Given the description of an element on the screen output the (x, y) to click on. 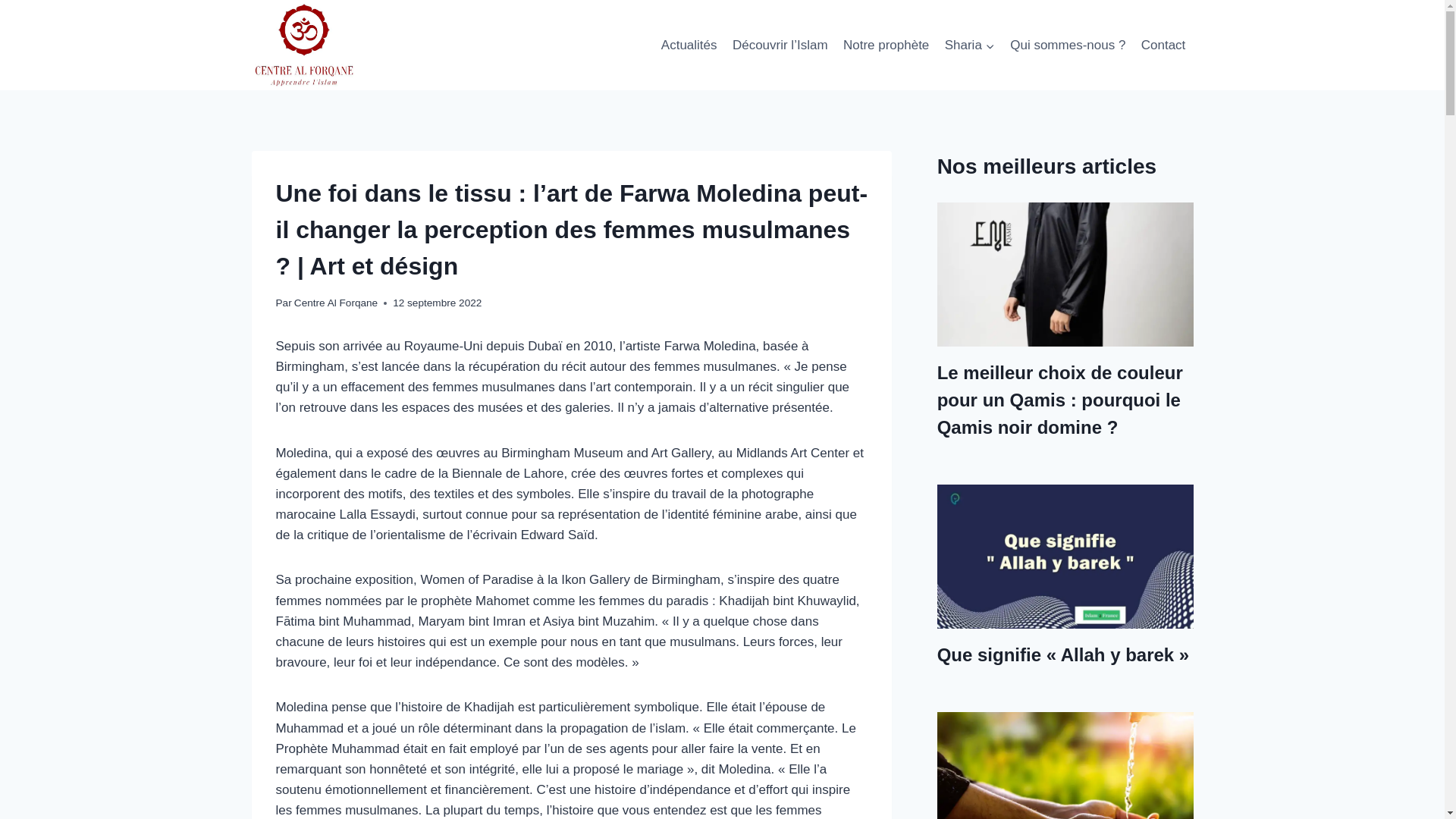
Contact Element type: text (1163, 45)
Qui sommes-nous ? Element type: text (1067, 45)
Sharia Element type: text (970, 45)
